Given the description of an element on the screen output the (x, y) to click on. 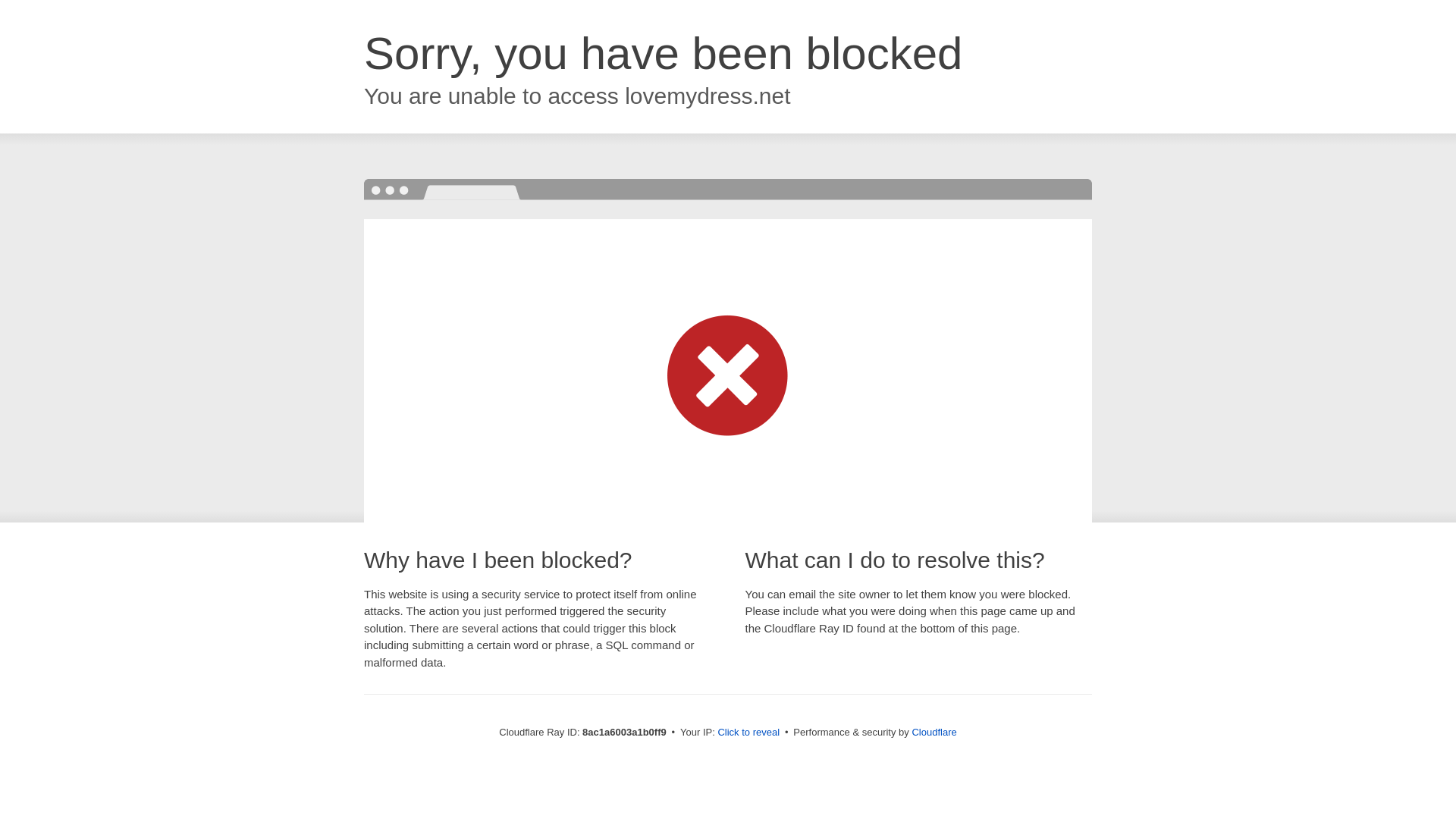
Cloudflare (933, 731)
Click to reveal (747, 732)
